Given the description of an element on the screen output the (x, y) to click on. 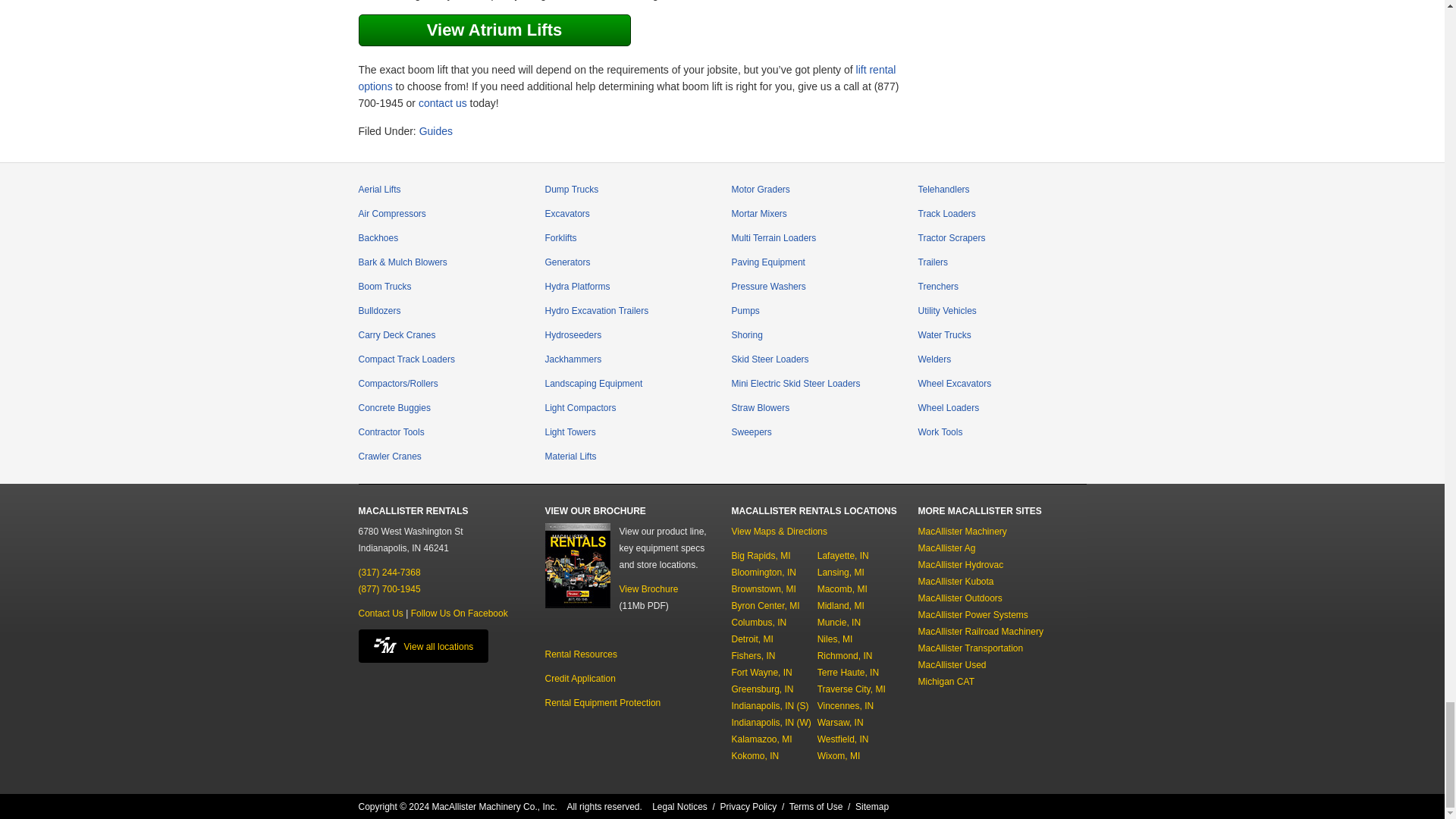
Boom Truck Rentals (384, 286)
Aerial Lift Rentals (379, 189)
Concrete Buggy Rentals (393, 407)
Air Compressor Rentals (391, 213)
Compact Track Loader Rentals (406, 358)
Bulldozer Rentals (379, 310)
Backhoe Rentals (377, 237)
Bark and Mulch Blower Rentals (402, 262)
Carry Deck Crane Rentals (396, 335)
